Given the description of an element on the screen output the (x, y) to click on. 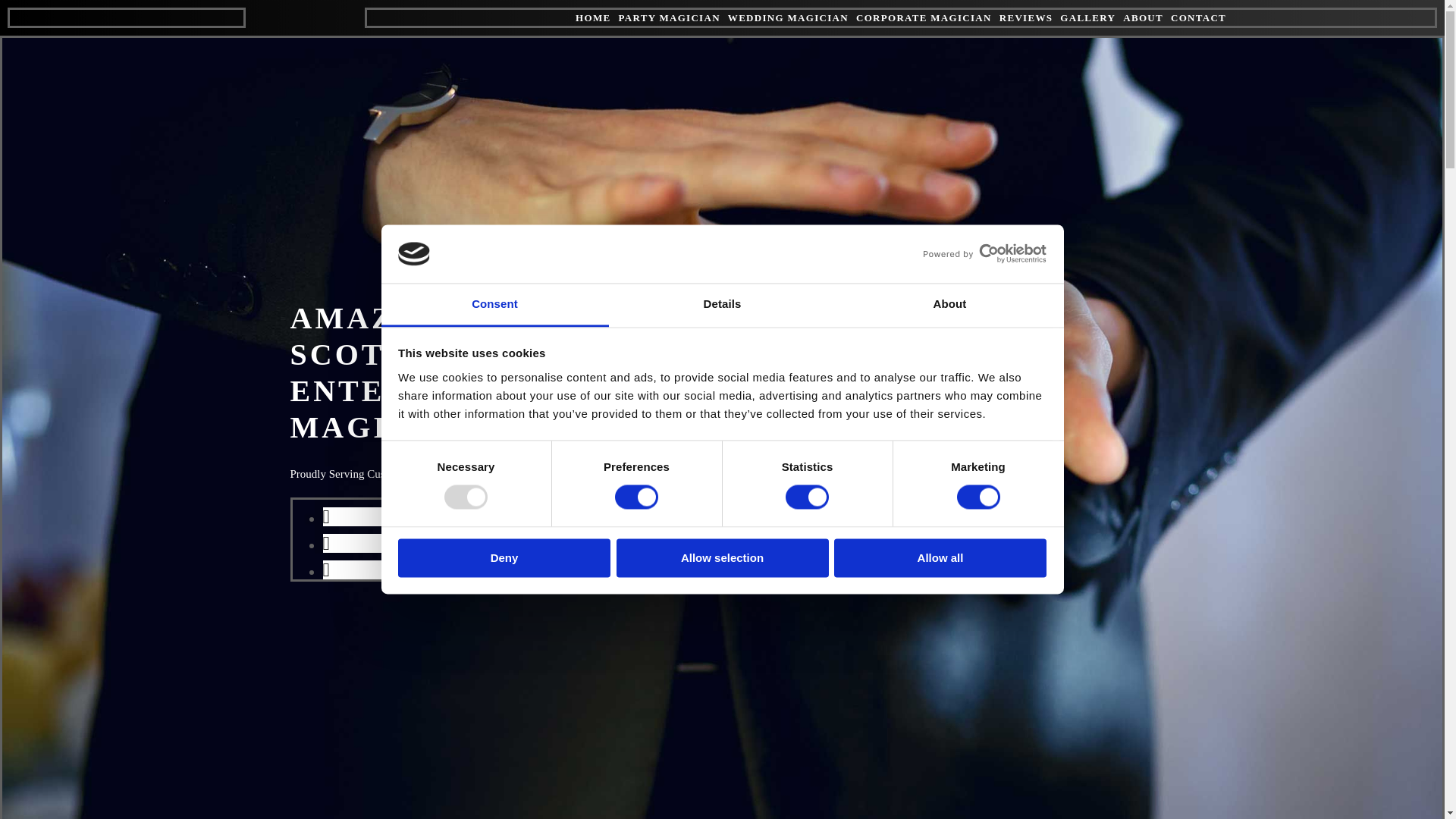
HOME (592, 17)
Details (721, 304)
CORPORATE MAGICIAN (923, 17)
Consent (494, 304)
WEDDING MAGICIAN (788, 17)
Allow selection (721, 557)
REVIEWS (1025, 17)
About (948, 304)
Deny (503, 557)
PARTY MAGICIAN (668, 17)
